Given the description of an element on the screen output the (x, y) to click on. 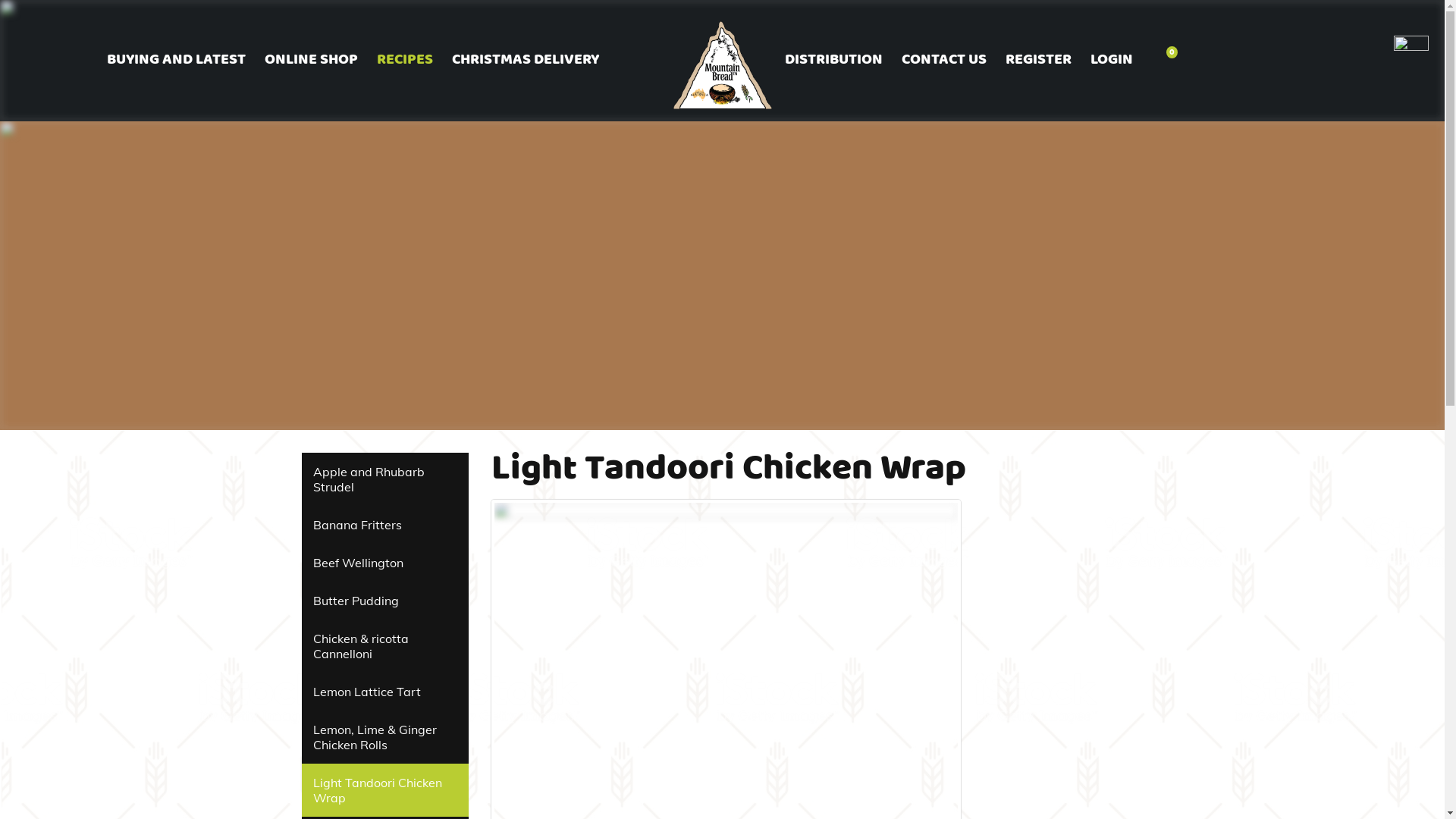
Banana Fritters Element type: text (384, 524)
RECIPES Element type: text (404, 59)
0 Element type: text (1165, 59)
Chicken & ricotta Cannelloni Element type: text (384, 645)
CHRISTMAS DELIVERY Element type: text (525, 59)
LOGIN Element type: text (1111, 59)
Lemon Lattice Tart Element type: text (384, 691)
Beef Wellington Element type: text (384, 562)
Light Tandoori Chicken Wrap Element type: text (384, 789)
BUYING AND LATEST Element type: text (175, 59)
CONTACT US Element type: text (943, 59)
DISTRIBUTION Element type: text (833, 59)
Lemon, Lime & Ginger Chicken Rolls Element type: text (384, 736)
ONLINE SHOP Element type: text (310, 59)
Apple and Rhubarb Strudel Element type: text (384, 478)
REGISTER Element type: text (1037, 59)
Butter Pudding Element type: text (384, 600)
